Given the description of an element on the screen output the (x, y) to click on. 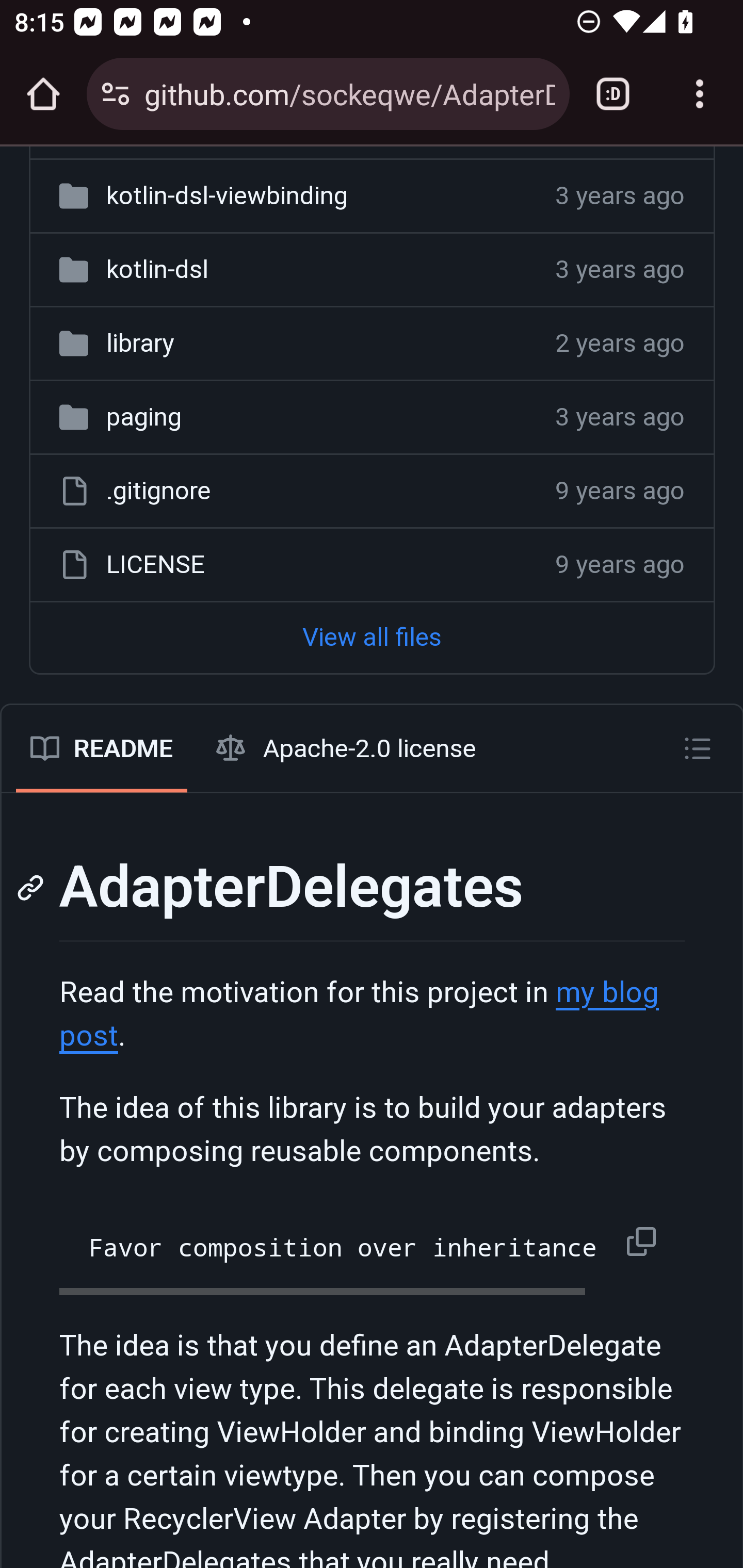
Open the home page (43, 93)
Connection is secure (115, 93)
Switch or close tabs (612, 93)
Customize and control Google Chrome (699, 93)
github.com/sockeqwe/AdapterDelegates (349, 92)
kotlin-dsl, (Directory) kotlin-dsl (156, 270)
library, (Directory) library (139, 344)
paging, (Directory) paging (143, 418)
.gitignore, (File) .gitignore (157, 492)
LICENSE, (File) LICENSE (154, 565)
View all files (371, 638)
README (100, 749)
Apache-2.0 license (346, 749)
Outline (697, 749)
Permalink: AdapterDelegates (33, 888)
my blog post (359, 1015)
Copy (644, 1242)
